Given the description of an element on the screen output the (x, y) to click on. 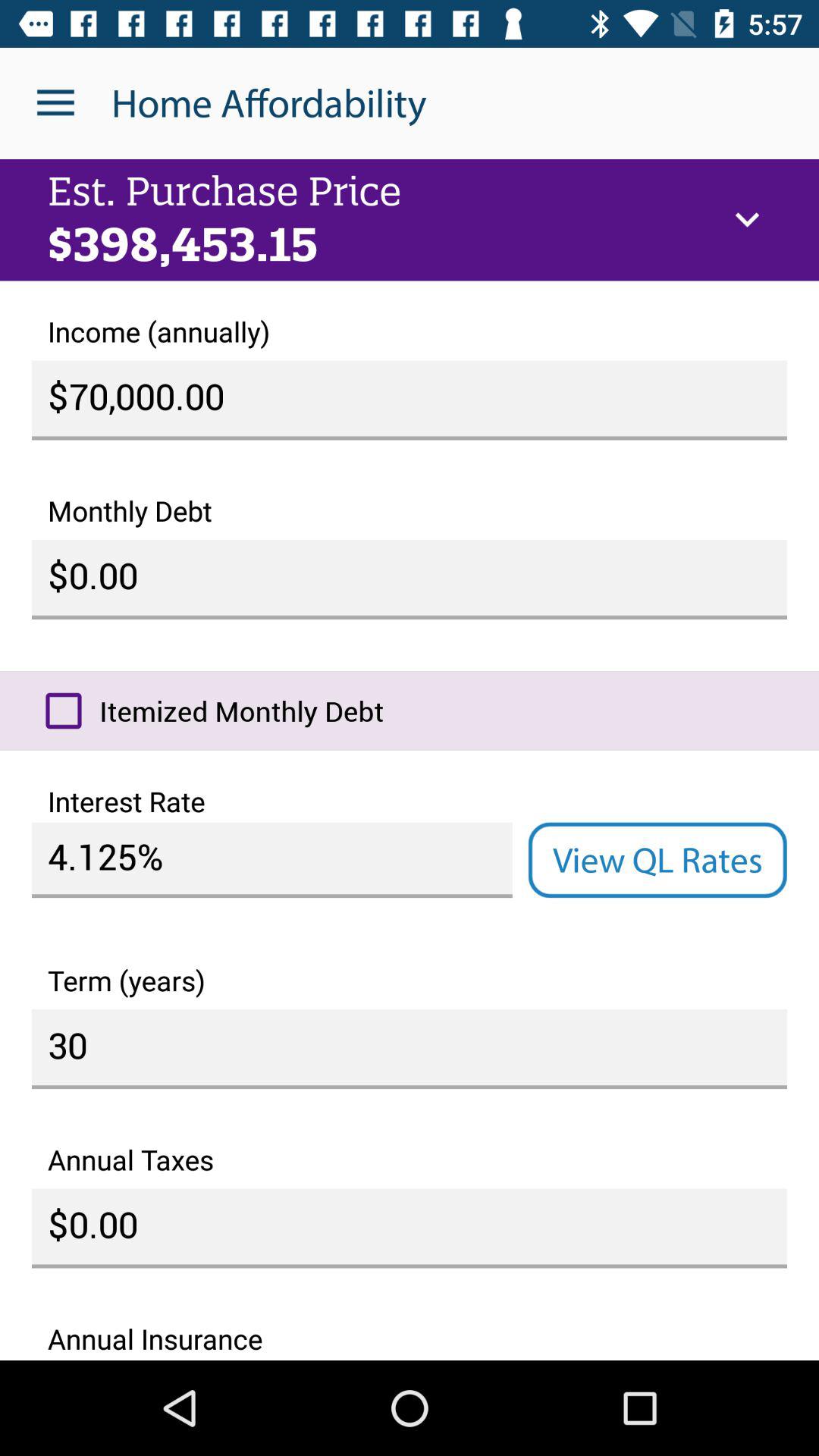
press the icon next to home affordability item (55, 103)
